Given the description of an element on the screen output the (x, y) to click on. 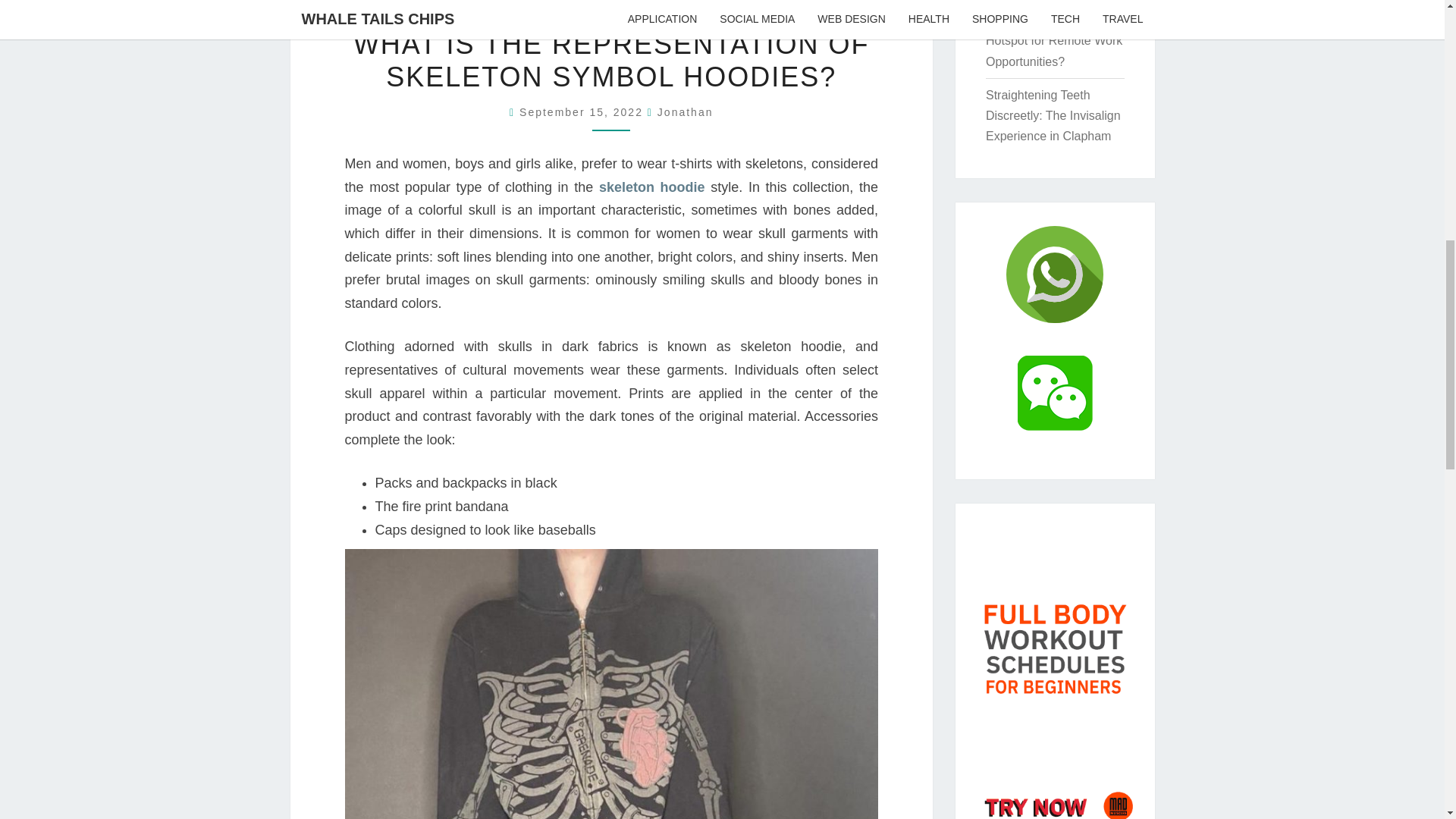
6:21 am (583, 111)
Jonathan (685, 111)
skeleton hoodie (651, 186)
Why New York is a Hotspot for Remote Work Opportunities? (1053, 40)
September 15, 2022 (583, 111)
View all posts by Jonathan (685, 111)
